Given the description of an element on the screen output the (x, y) to click on. 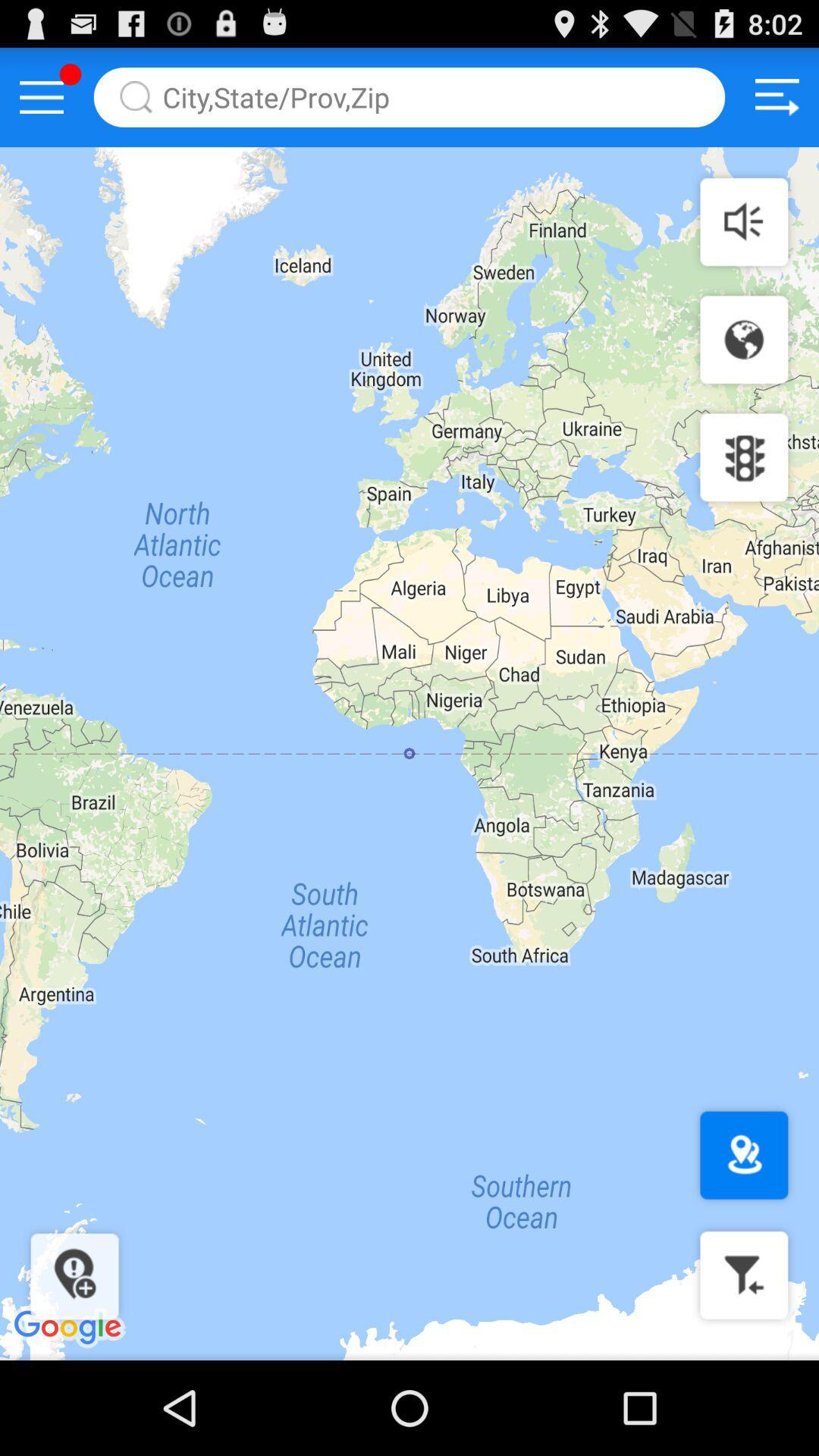
search for location (409, 97)
